Given the description of an element on the screen output the (x, y) to click on. 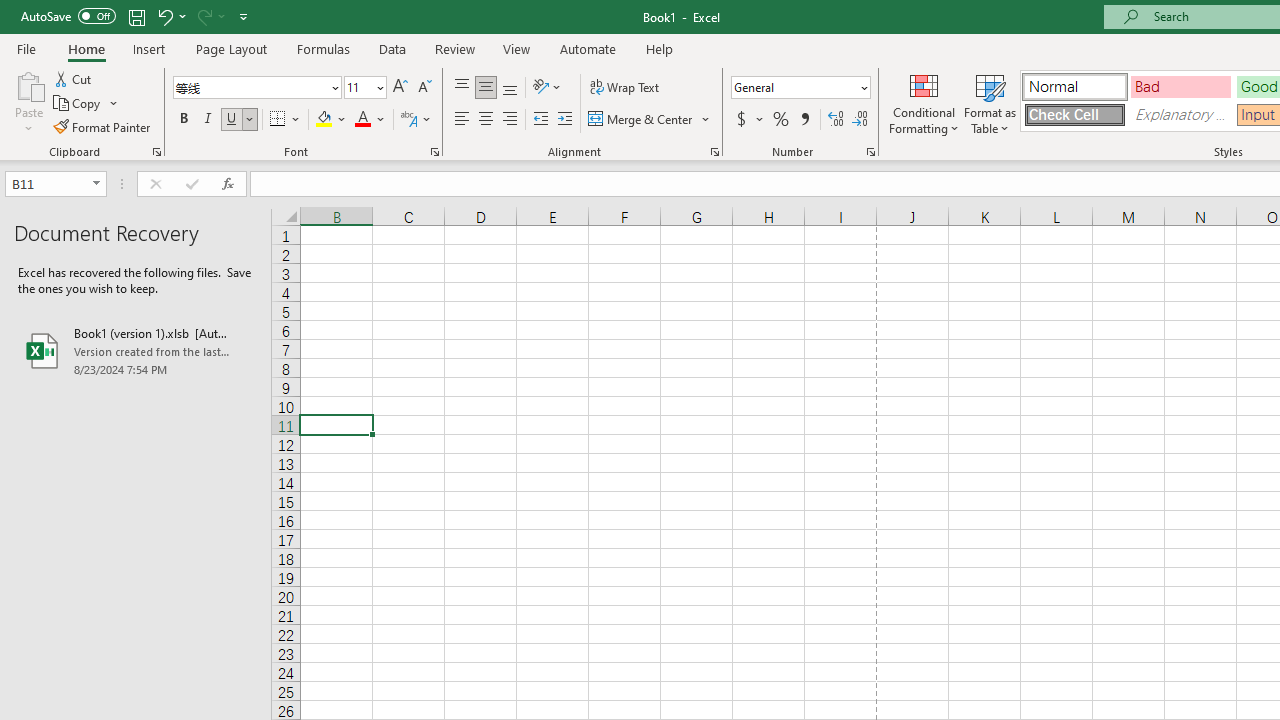
Number Format (800, 87)
Show Phonetic Field (408, 119)
Top Align (461, 87)
Percent Style (781, 119)
Paste (28, 102)
Format Painter (103, 126)
Increase Decimal (836, 119)
Bottom Align (509, 87)
Decrease Indent (540, 119)
Orientation (547, 87)
Explanatory Text (1180, 114)
